Given the description of an element on the screen output the (x, y) to click on. 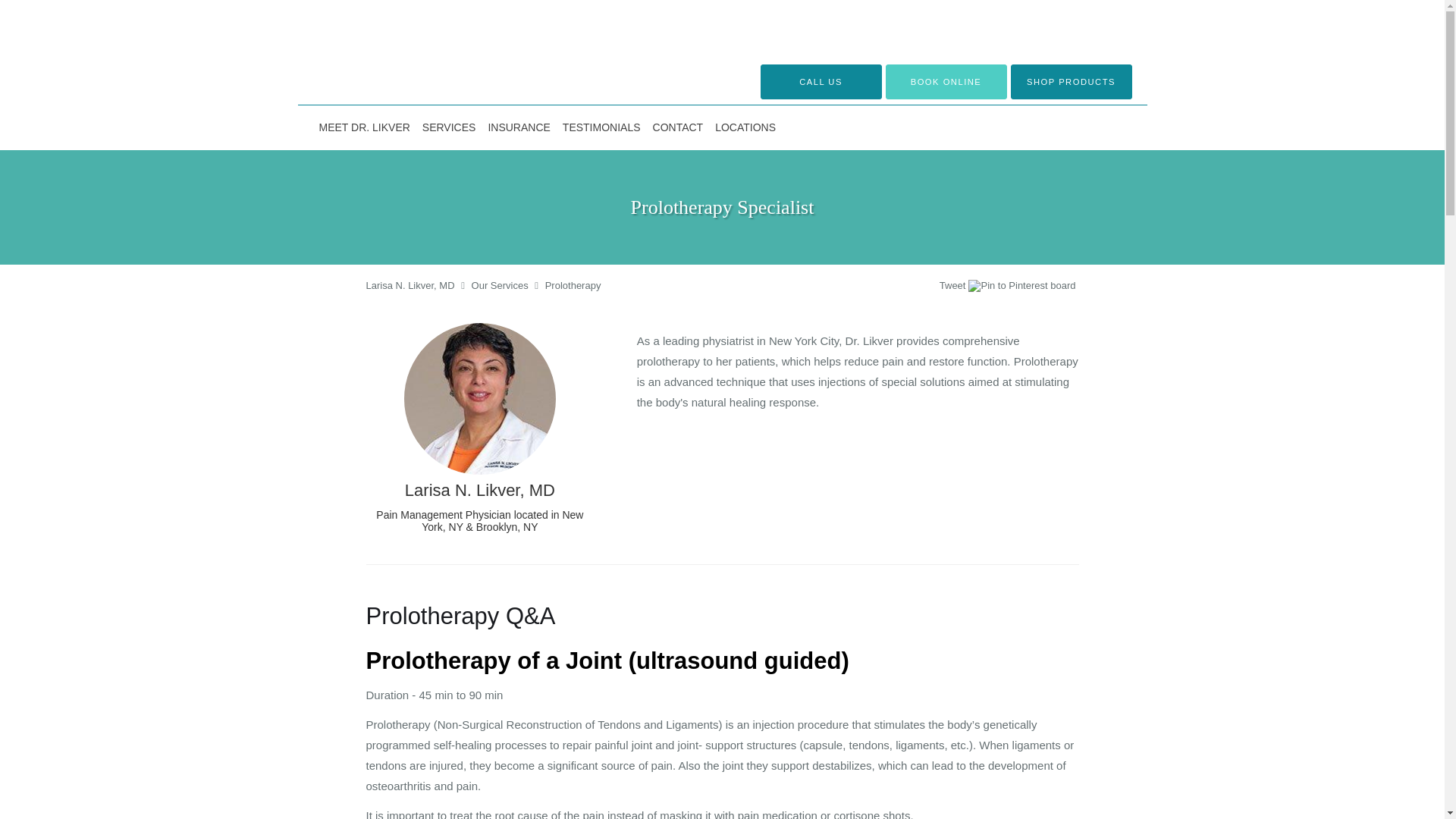
Tweet (952, 285)
SHOP PRODUCTS (1070, 81)
INSURANCE (518, 127)
Our Services (499, 285)
Prolotherapy (572, 285)
TESTIMONIALS (601, 127)
CALL US (820, 81)
MEET DR. LIKVER (363, 127)
SERVICES (448, 127)
Larisa N. Likver, MD (409, 285)
